Given the description of an element on the screen output the (x, y) to click on. 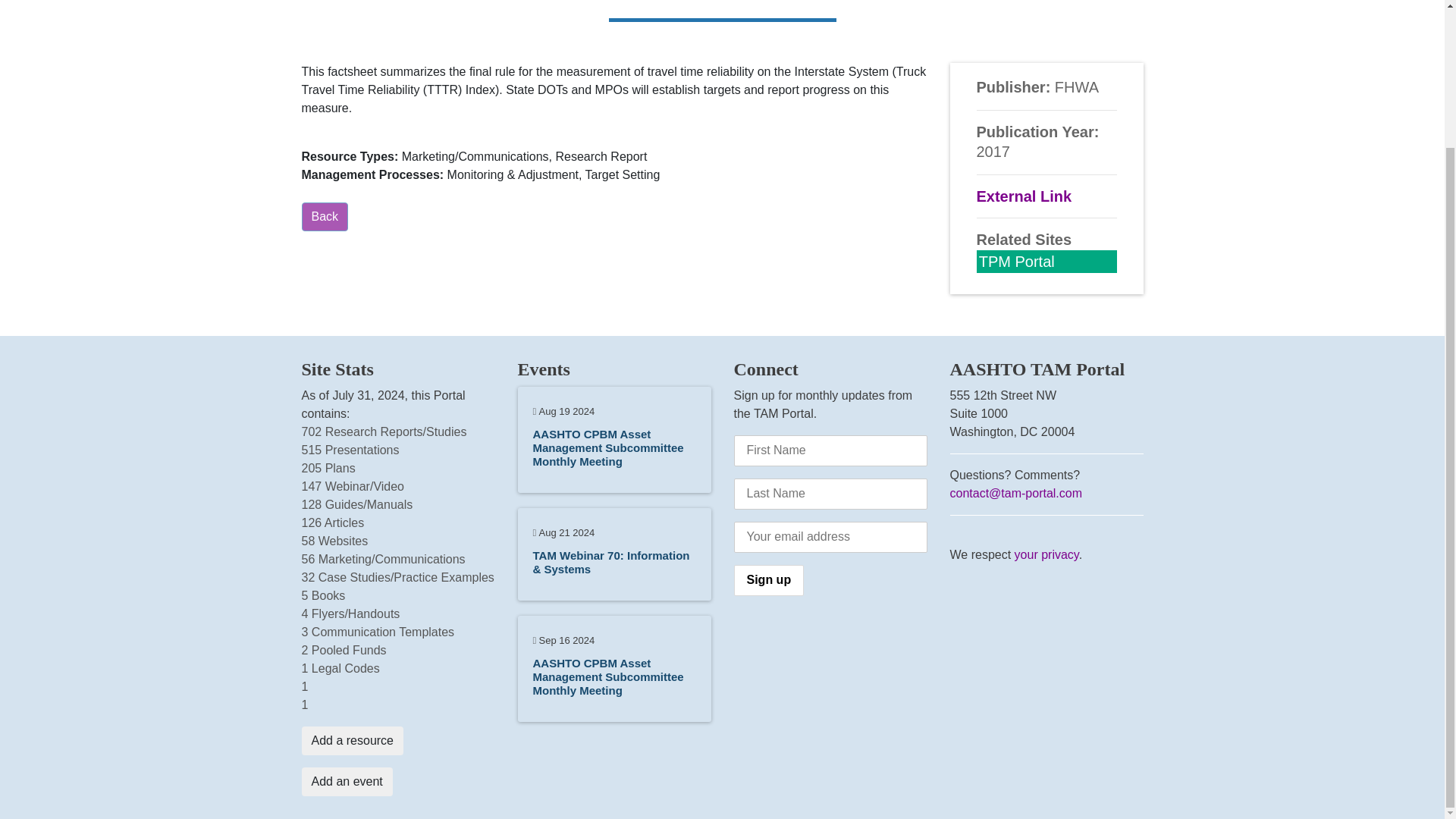
External Link (1023, 196)
Back (325, 216)
Sign up (769, 580)
TPM Portal (1016, 261)
